Given the description of an element on the screen output the (x, y) to click on. 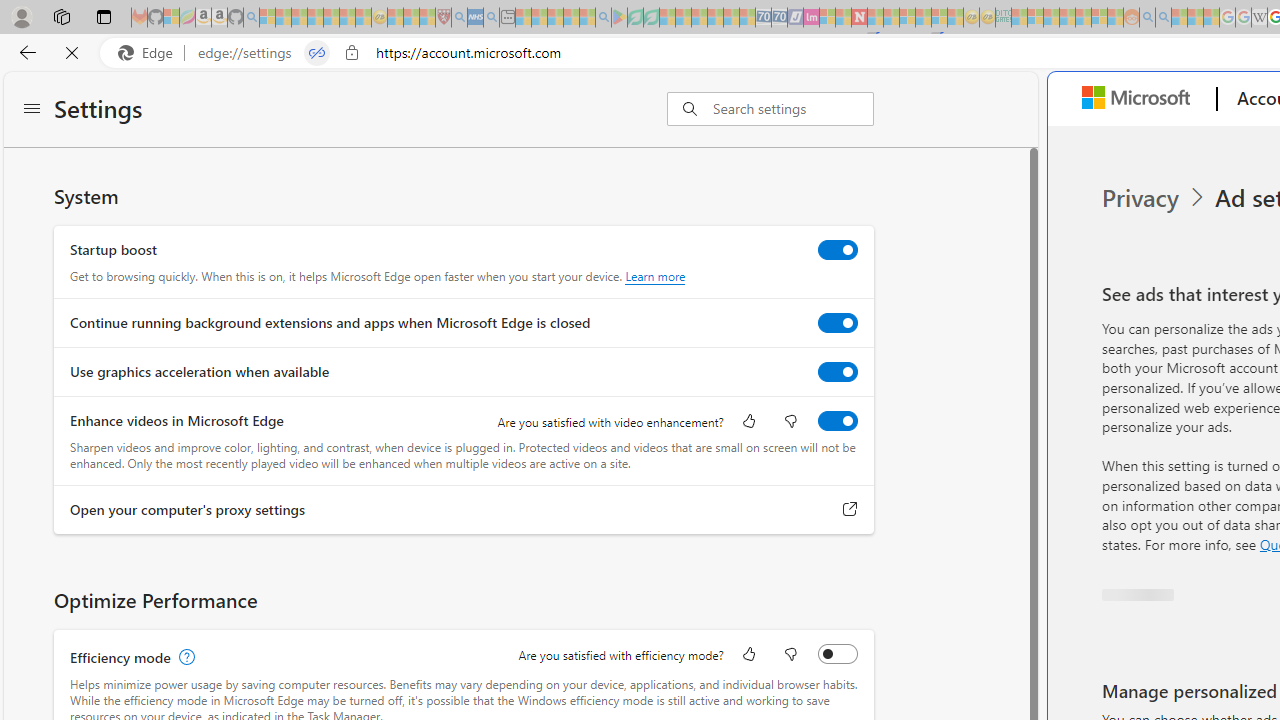
Like (748, 655)
DITOGAMES AG Imprint - Sleeping (1003, 17)
Settings menu (31, 110)
google - Search - Sleeping (603, 17)
